Given the description of an element on the screen output the (x, y) to click on. 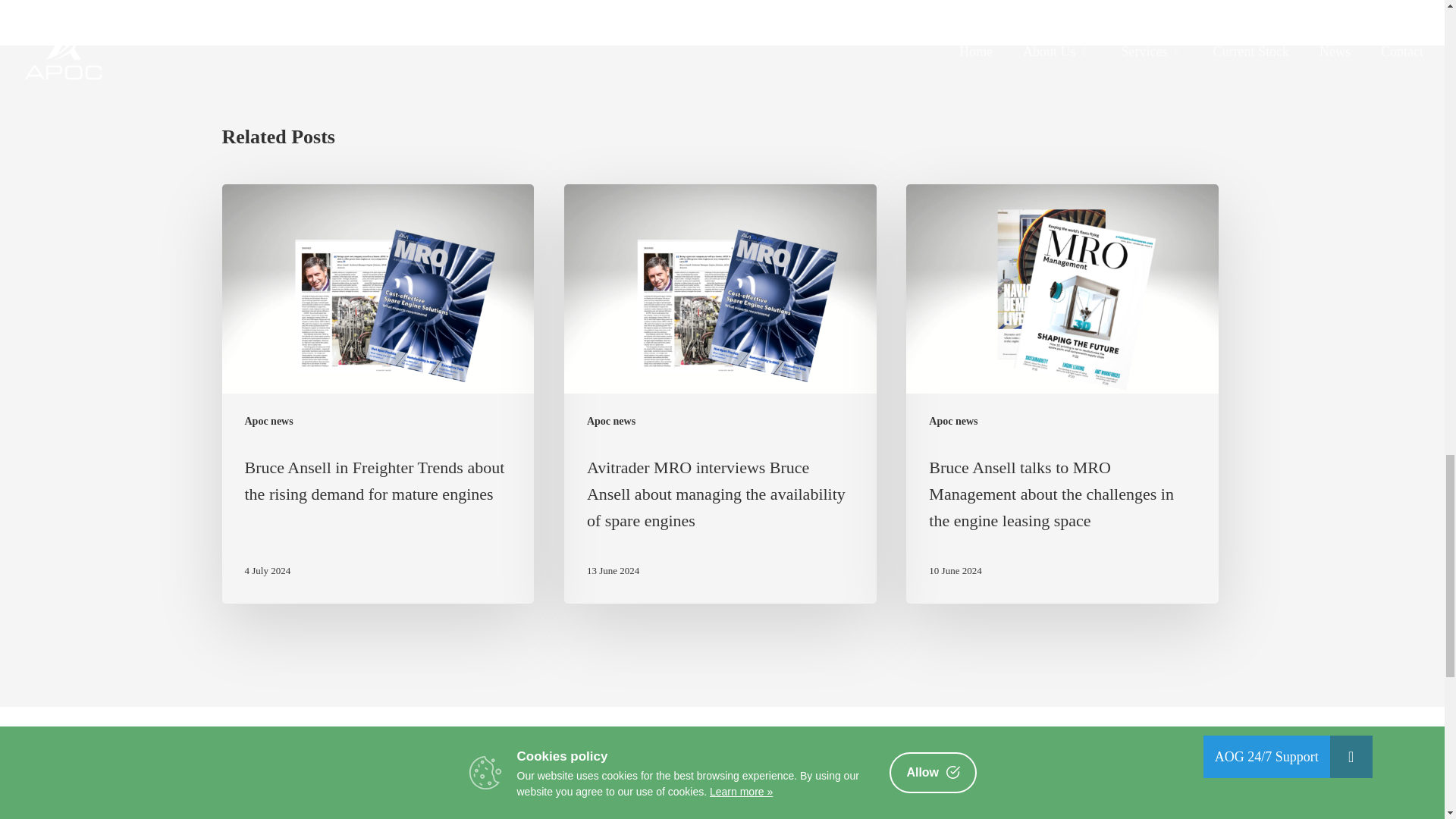
Apoc news (268, 421)
Apoc news (610, 421)
Apoc news (952, 421)
